Given the description of an element on the screen output the (x, y) to click on. 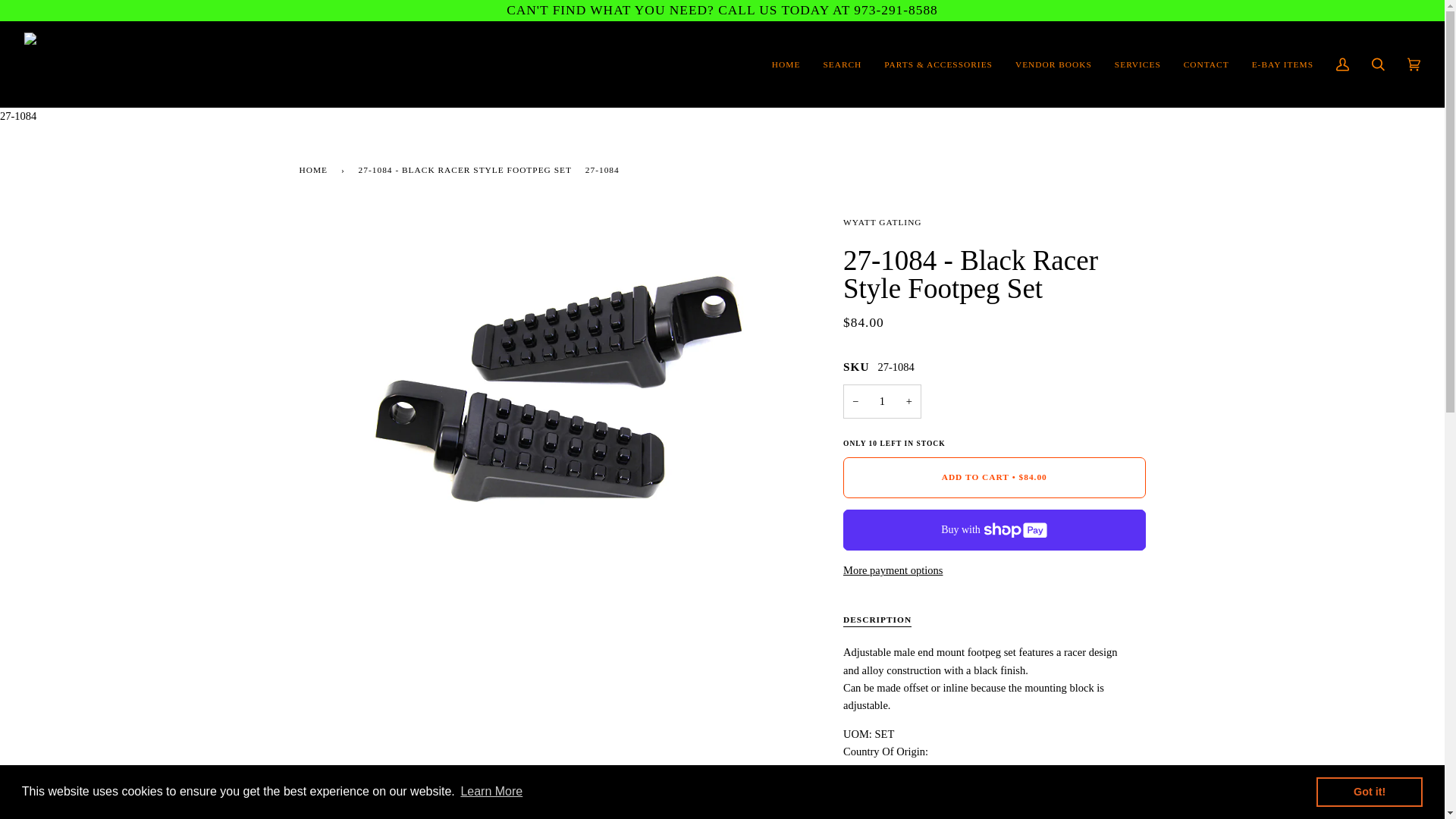
Learn More (491, 791)
VENDOR BOOKS (1053, 64)
1 (882, 401)
Got it! (1369, 791)
Back to the frontpage (315, 169)
HOME (786, 64)
SEARCH (841, 64)
